Given the description of an element on the screen output the (x, y) to click on. 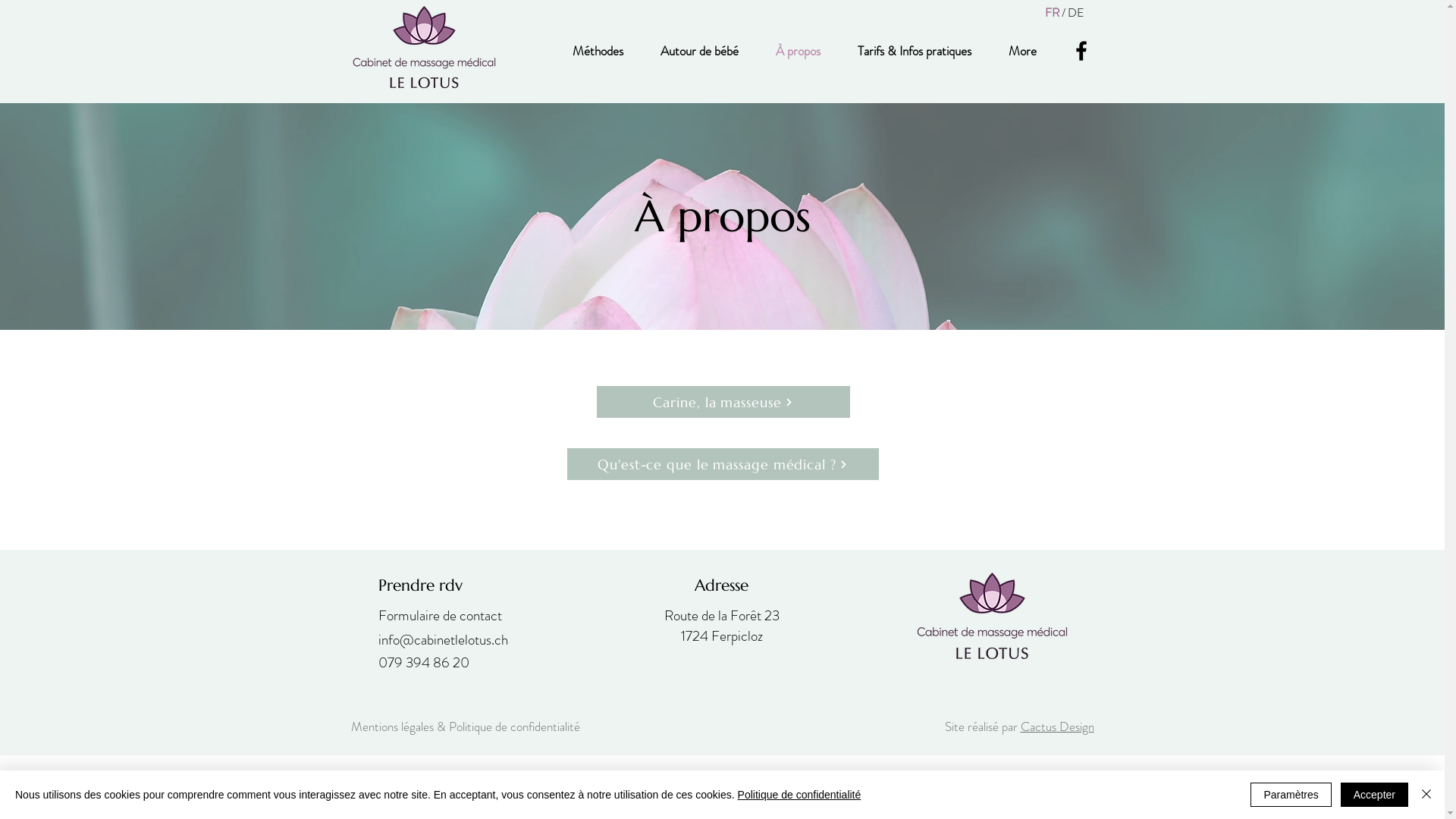
Accepter Element type: text (1374, 794)
Carine, la masseuse Element type: text (722, 401)
Tarifs & Infos pratiques Element type: text (913, 50)
DE Element type: text (1075, 12)
Cactus Design Element type: text (1057, 726)
FR Element type: text (1052, 12)
1724 Ferpicloz Element type: text (721, 635)
Formulaire de contact Element type: text (439, 615)
info@cabinetlelotus.ch Element type: text (442, 639)
